Given the description of an element on the screen output the (x, y) to click on. 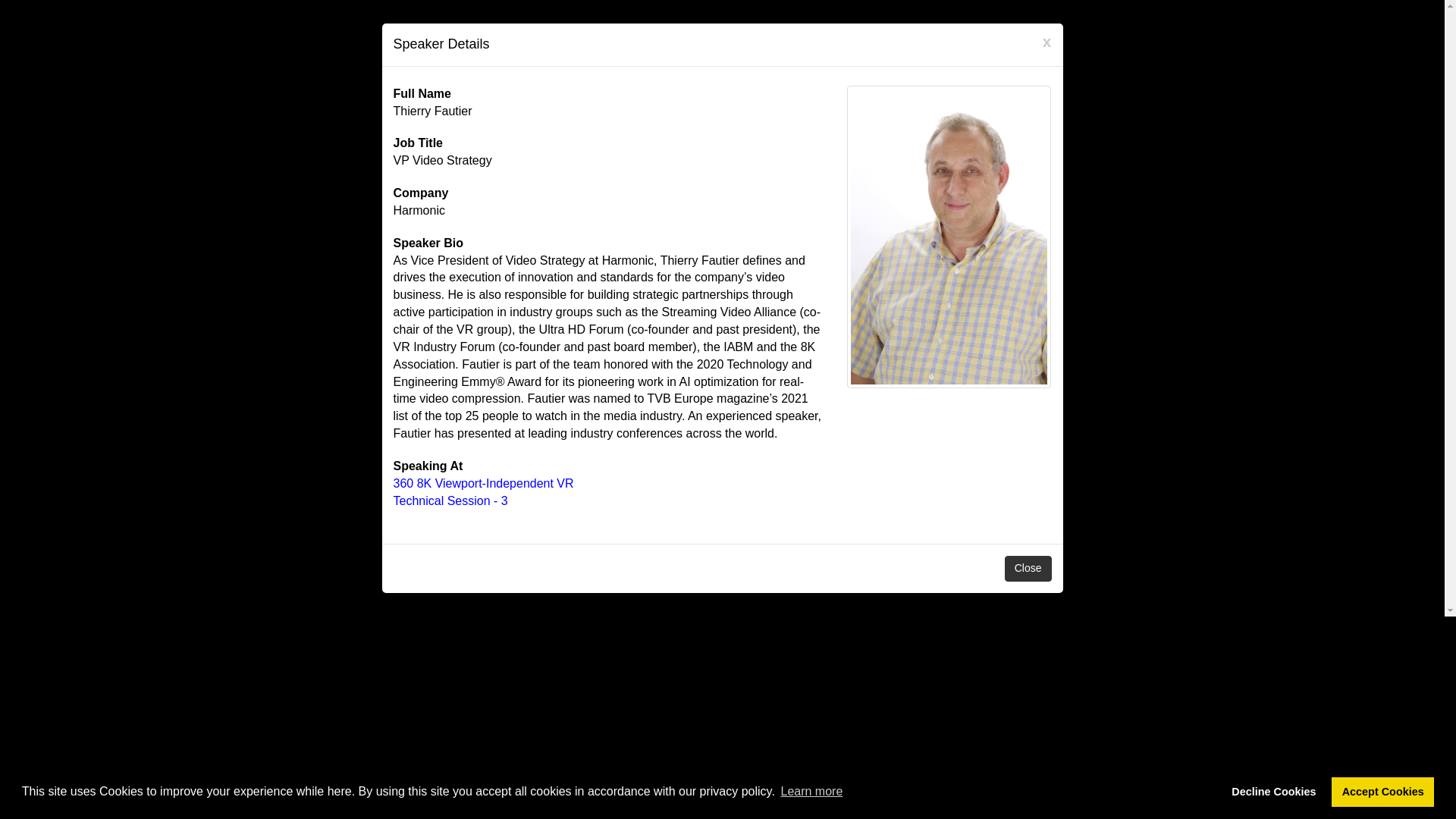
Session Details (449, 500)
Technical Session - 3 (449, 500)
360 8K Viewport-Independent VR (483, 482)
Close (1027, 568)
Session Details (483, 482)
